Given the description of an element on the screen output the (x, y) to click on. 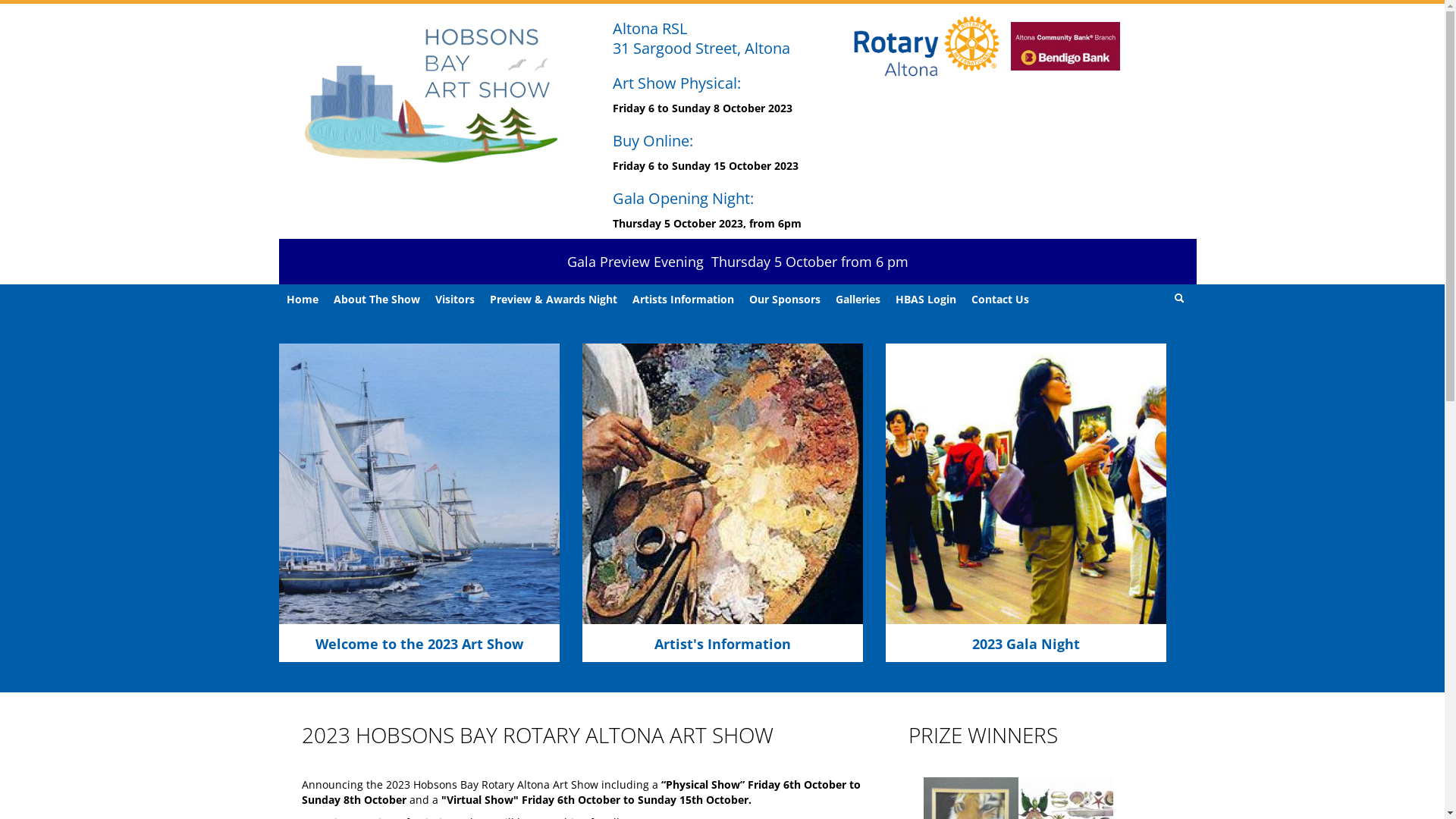
2023 Gala Night Element type: text (1025, 643)
Gala Preview Evening  Thursday 5 October from 6 pm Element type: text (737, 261)
Altona Community Bank Branches - Bendigo Bank Element type: hover (1064, 46)
Buy Online: Element type: text (652, 140)
Our Sponsors Element type: text (784, 299)
Contact Us Element type: text (999, 299)
Home Element type: text (302, 299)
Artists Information Element type: text (682, 299)
Art Show Physical: Element type: text (676, 82)
Welcome to the 2023 Art Show Element type: text (419, 643)
HBAS Login Element type: text (925, 299)
Visitors Element type: text (454, 299)
Preview & Awards Night Element type: text (553, 299)
Galleries Element type: text (858, 299)
About The Show Element type: text (376, 299)
Artist's Information Element type: text (721, 643)
